Given the description of an element on the screen output the (x, y) to click on. 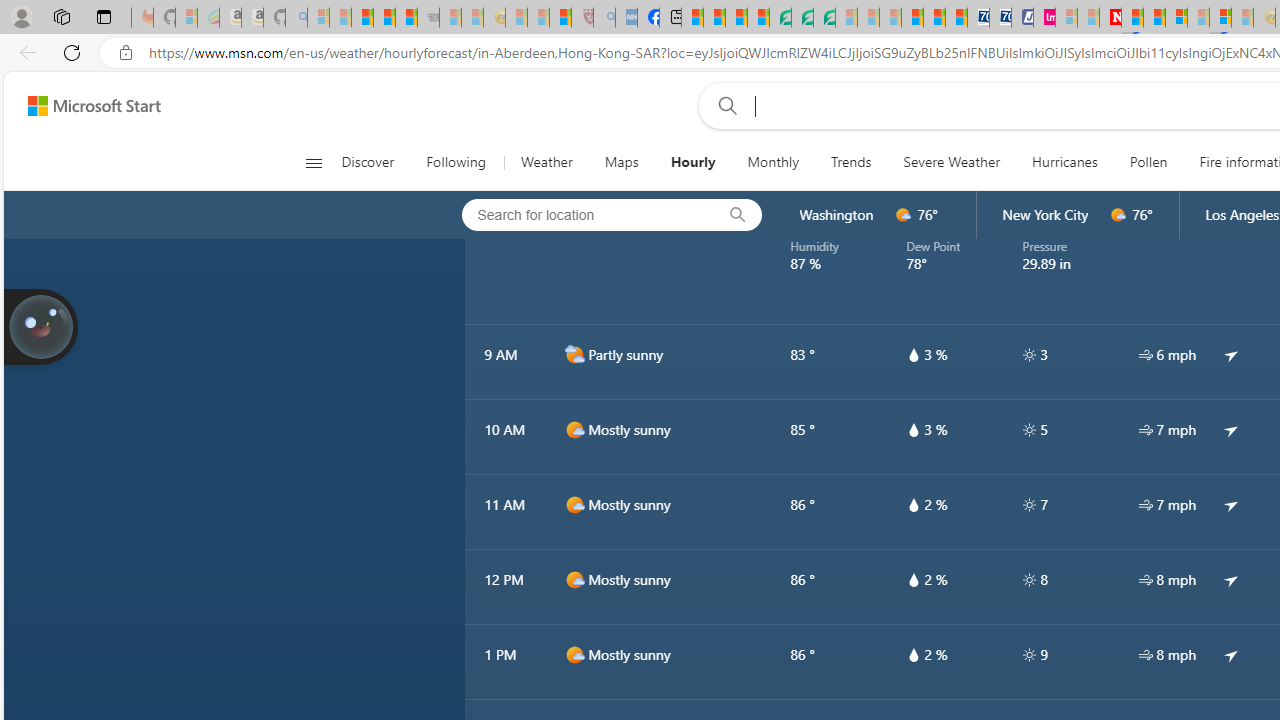
Pollen (1148, 162)
Maps (621, 162)
Maps (621, 162)
